Given the description of an element on the screen output the (x, y) to click on. 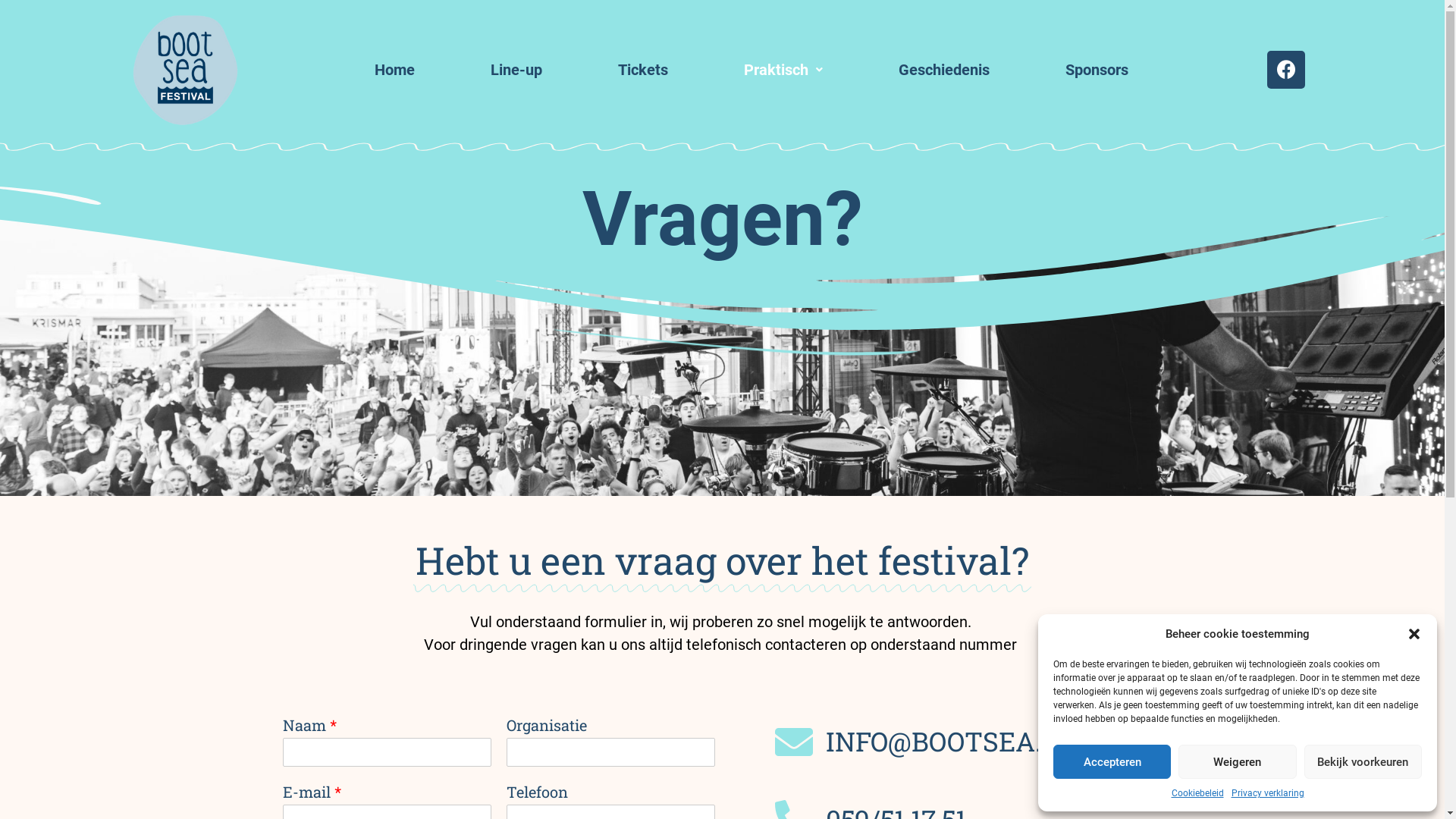
Geschiedenis Element type: text (943, 69)
Cookiebeleid Element type: text (1196, 793)
Tickets Element type: text (643, 69)
Privacy verklaring Element type: text (1267, 793)
Home Element type: text (394, 69)
Praktisch Element type: text (783, 69)
INFO@BOOTSEA.BE Element type: text (967, 741)
Sponsors Element type: text (1096, 69)
Bekijk voorkeuren Element type: text (1362, 761)
Line-up Element type: text (516, 69)
Accepteren Element type: text (1111, 761)
Weigeren Element type: text (1236, 761)
